Given the description of an element on the screen output the (x, y) to click on. 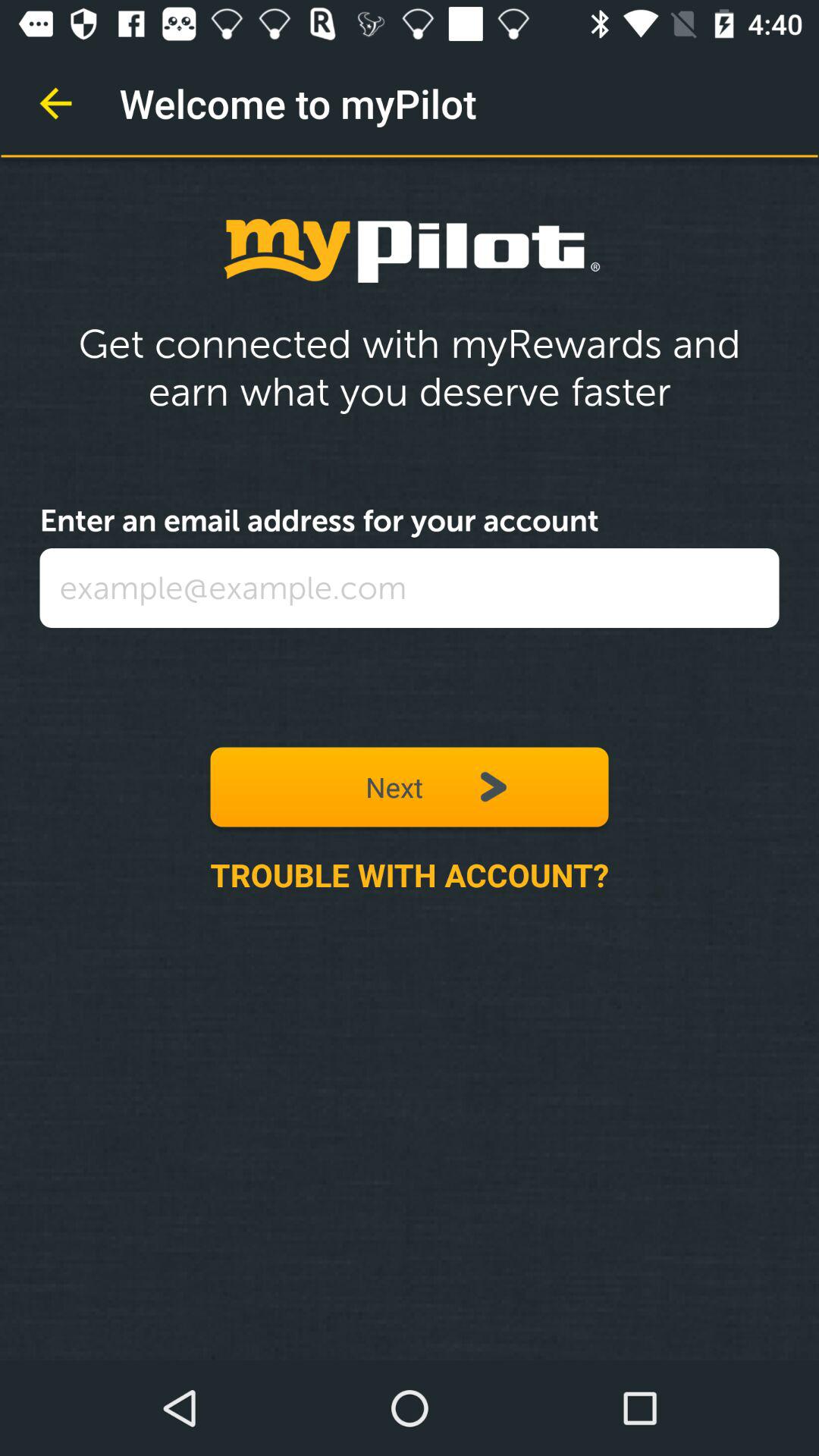
turn off the app to the left of the welcome to mypilot item (55, 103)
